Given the description of an element on the screen output the (x, y) to click on. 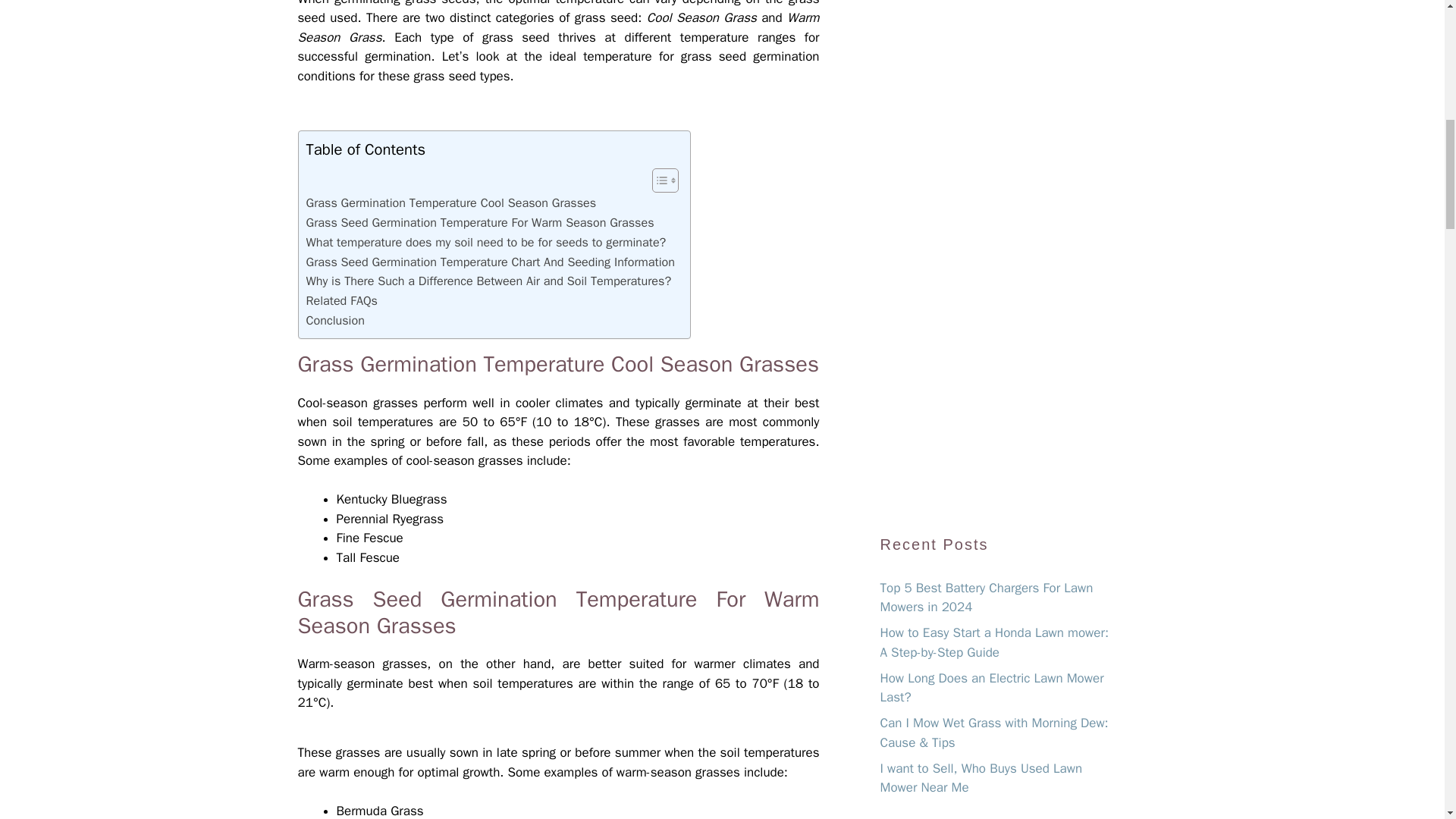
Grass Seed Germination Temperature For Warm Season Grasses (479, 222)
Related FAQs (341, 301)
Top 5 Best Battery Chargers For Lawn Mowers in 2024 (986, 597)
Grass Seed Germination Temperature For Warm Season Grasses (479, 222)
Related FAQs (341, 301)
How to Easy Start a Honda Lawn mower: A Step-by-Step Guide (993, 642)
Grass Germination Temperature Cool Season Grasses (450, 202)
How Long Does an Electric Lawn Mower Last? (991, 687)
Conclusion (335, 320)
Conclusion (335, 320)
